Given the description of an element on the screen output the (x, y) to click on. 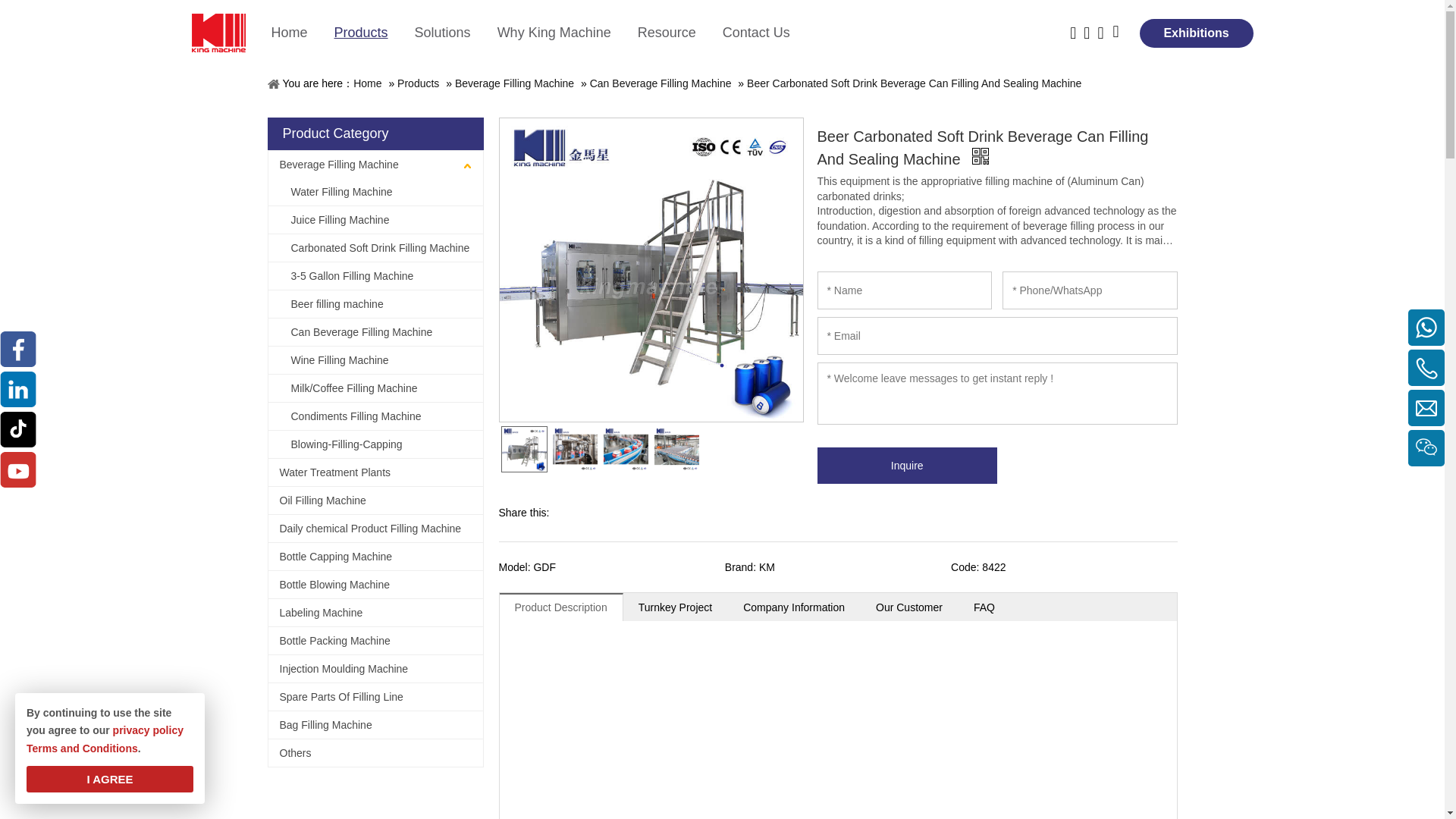
YouTube video player (834, 732)
Home (302, 33)
Inquire (906, 465)
Why King Machine (567, 33)
Resource (679, 33)
Products (374, 33)
Solutions (455, 33)
